Given the description of an element on the screen output the (x, y) to click on. 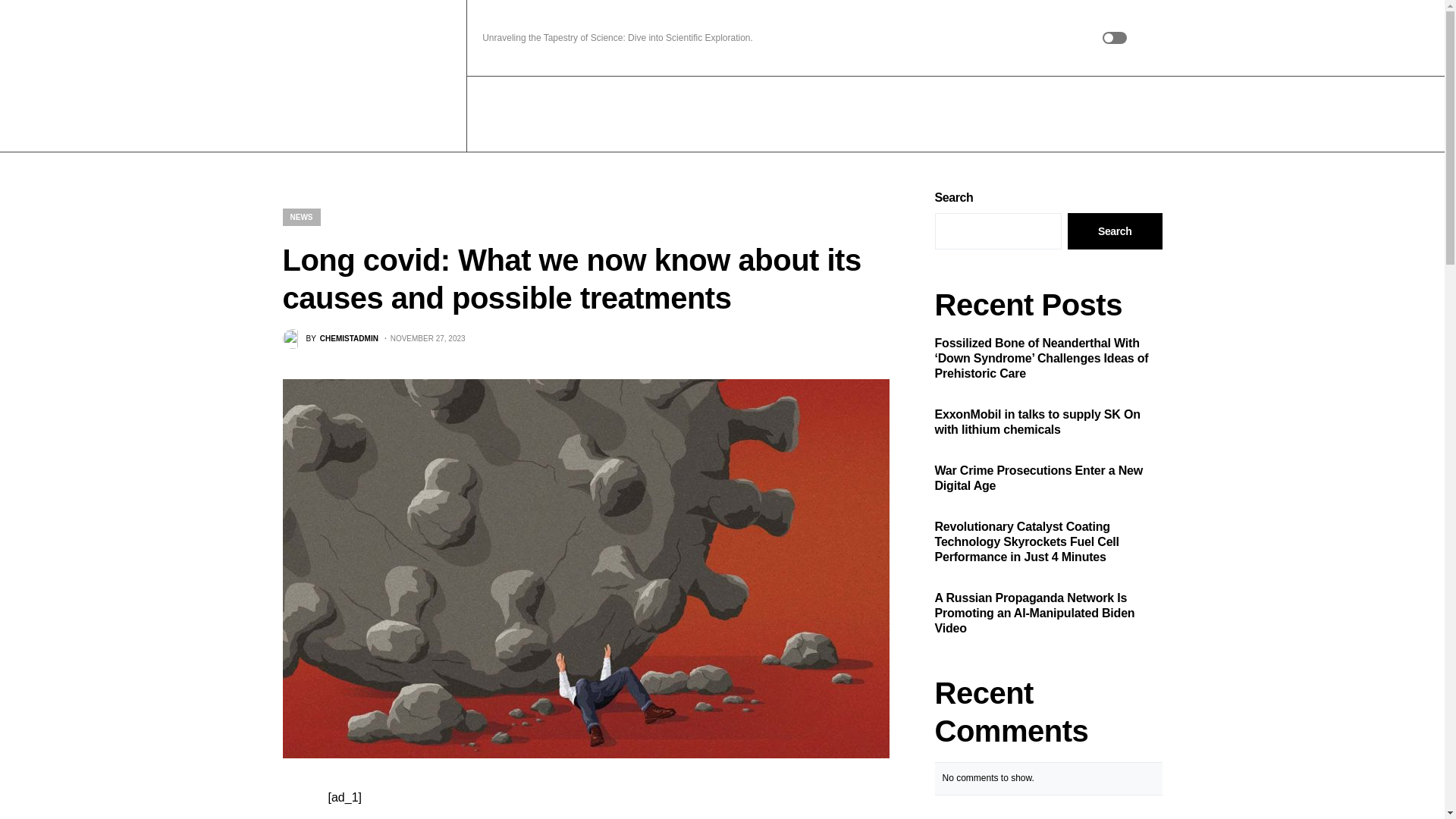
Featured (506, 114)
DMCA Notice (677, 114)
Carbon Chemist (376, 75)
About (561, 114)
View all posts by chemistadmin (329, 338)
Contact (610, 114)
